Given the description of an element on the screen output the (x, y) to click on. 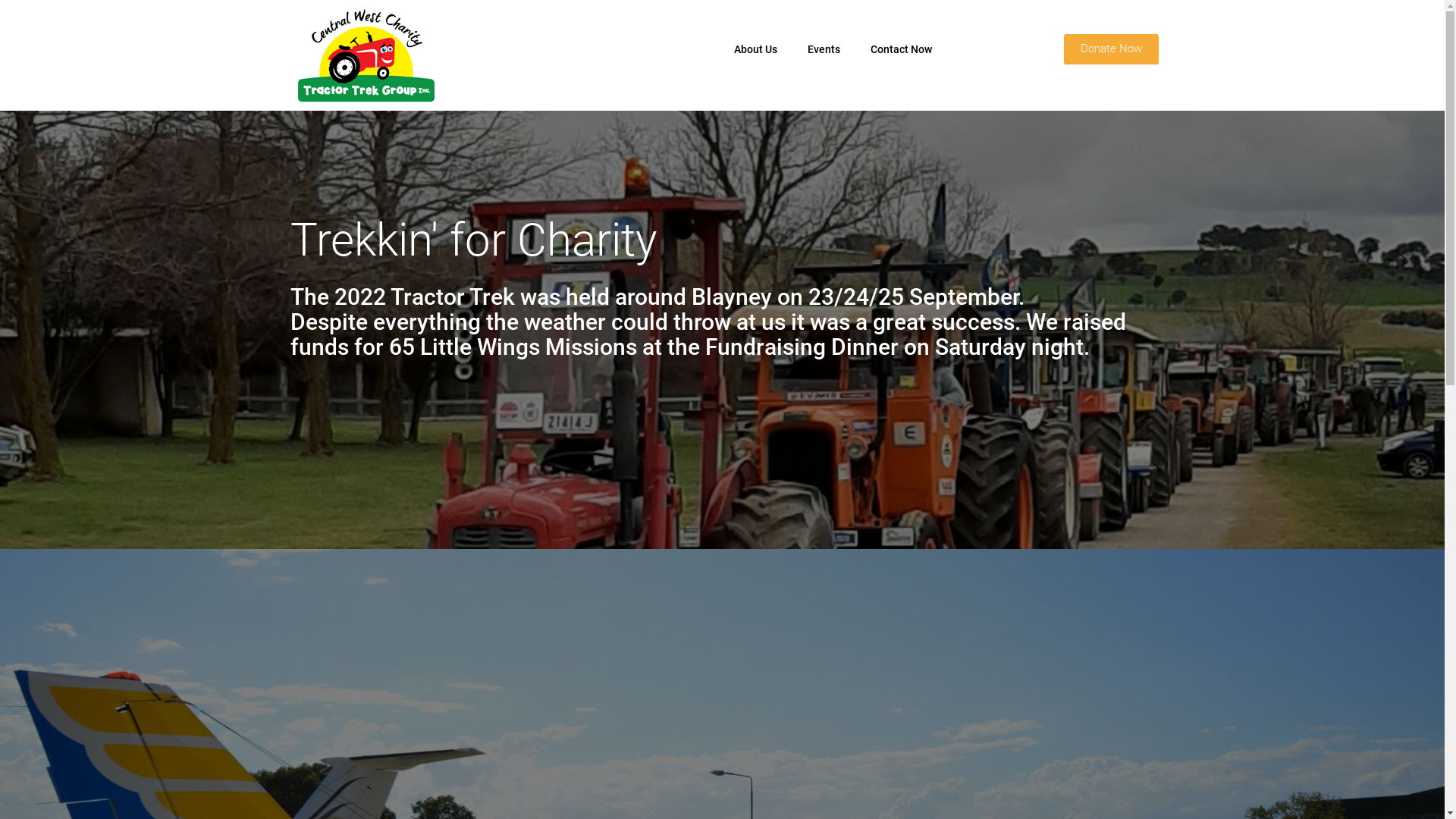
Events Element type: text (823, 48)
About Us Element type: text (755, 48)
Donate Now Element type: text (1110, 49)
Contact Now Element type: text (901, 48)
